Given the description of an element on the screen output the (x, y) to click on. 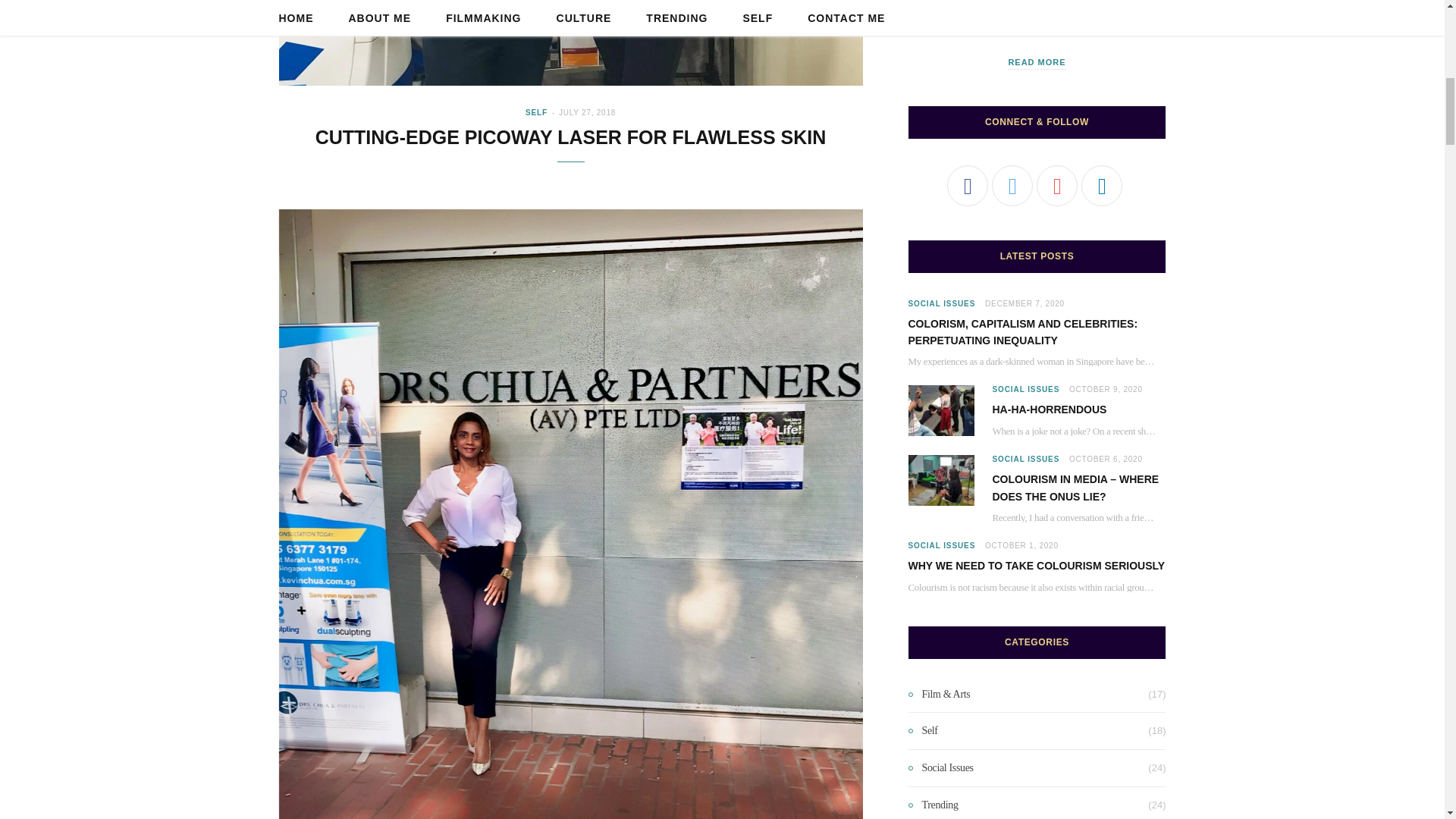
JULY 27, 2018 (587, 112)
SELF (536, 112)
CUTTING-EDGE PICOWAY LASER FOR FLAWLESS SKIN (571, 137)
Cutting-edge PicoWay Laser for flawless skin (571, 42)
